Given the description of an element on the screen output the (x, y) to click on. 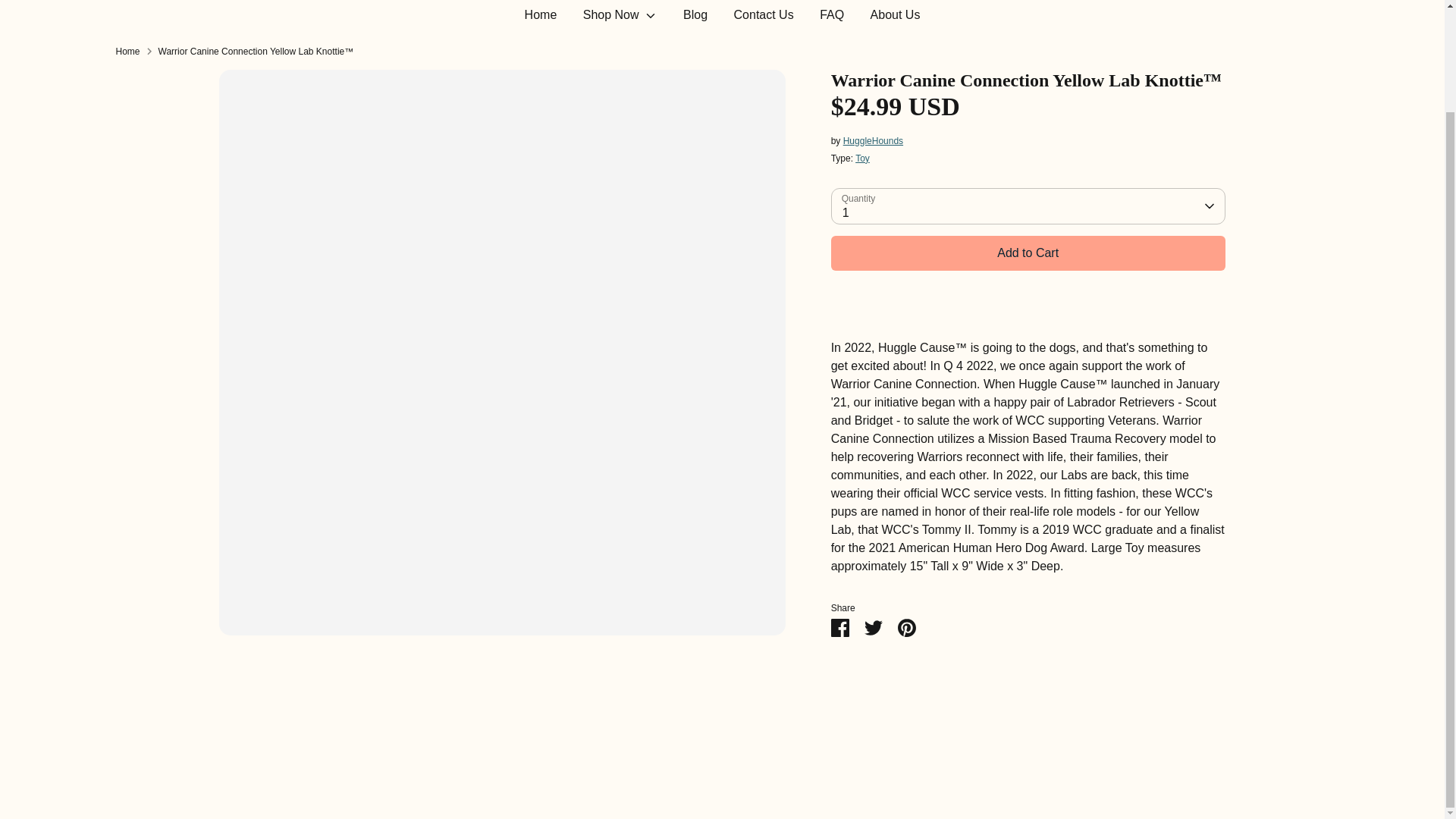
Diners Club (1069, 652)
Discover (1100, 652)
American Express (1008, 652)
Apple Pay (1039, 652)
